Given the description of an element on the screen output the (x, y) to click on. 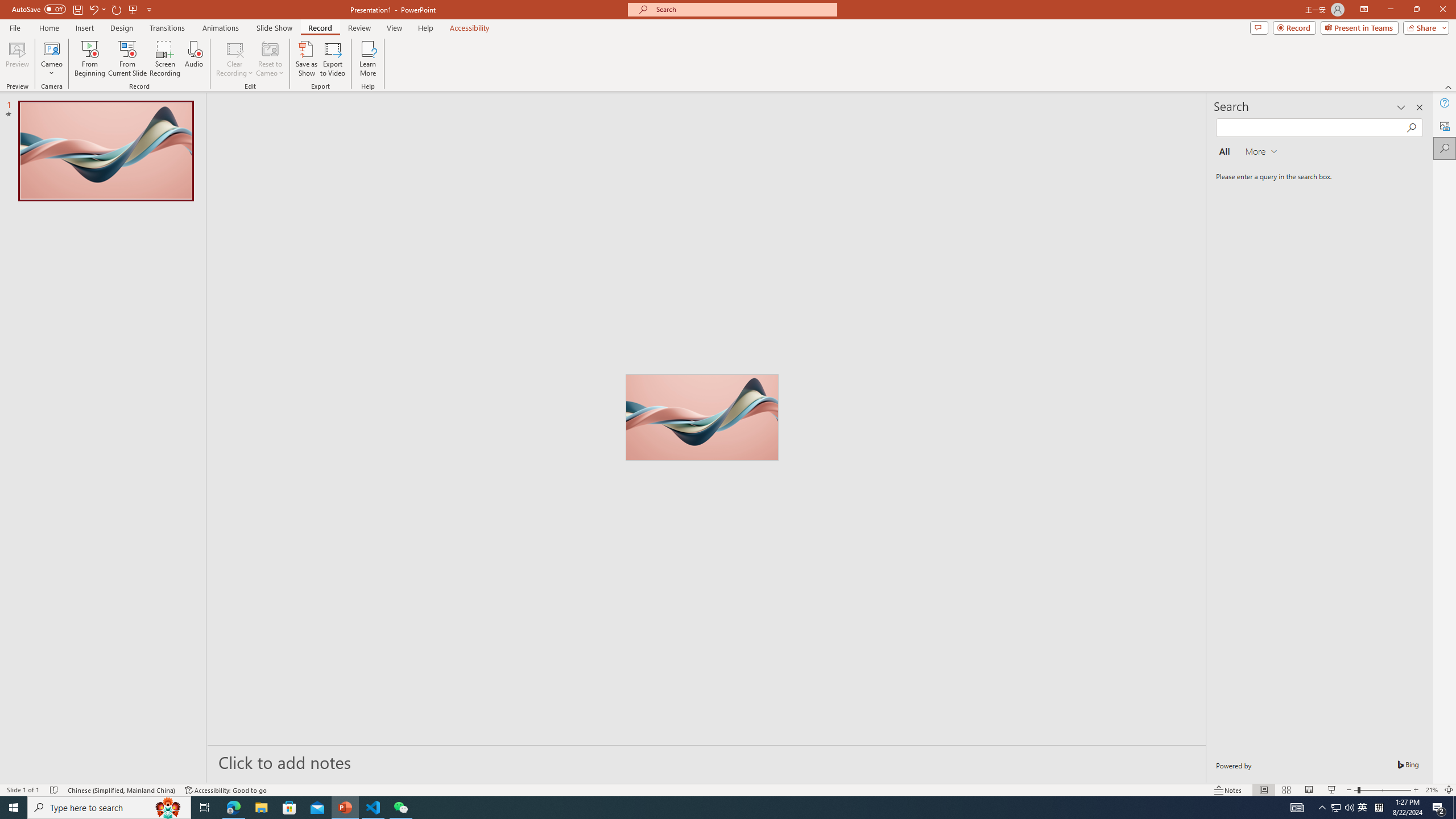
Zoom 21% (1431, 790)
Learn More (368, 58)
Accessibility Checker Accessibility: Good to go (226, 790)
